Given the description of an element on the screen output the (x, y) to click on. 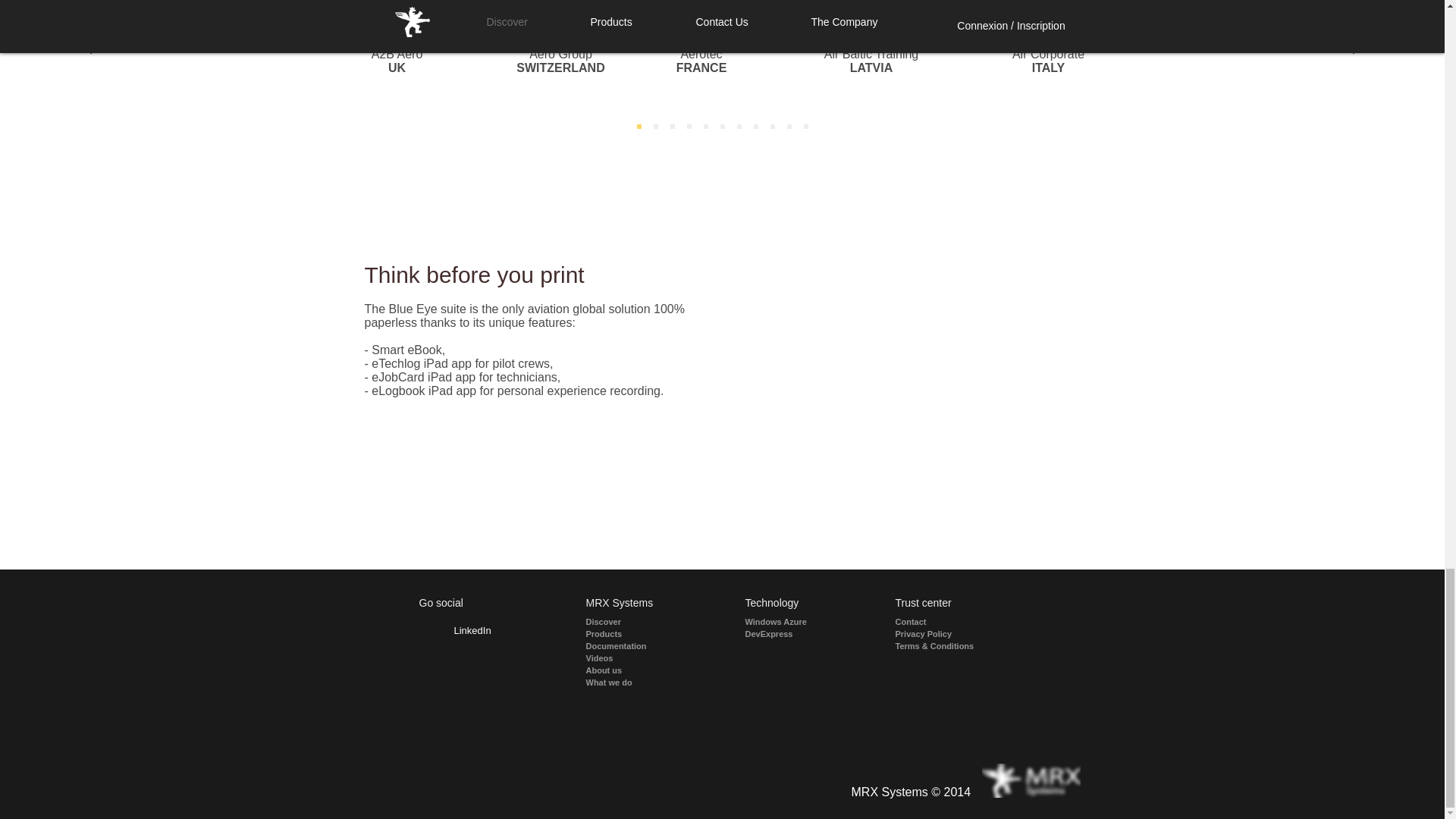
LinkedIn (471, 630)
Documentation (629, 645)
What we do (629, 682)
DevExpress (794, 633)
Discover (629, 621)
Windows Azure (794, 621)
Products (629, 633)
About us (629, 669)
Videos (629, 657)
